Given the description of an element on the screen output the (x, y) to click on. 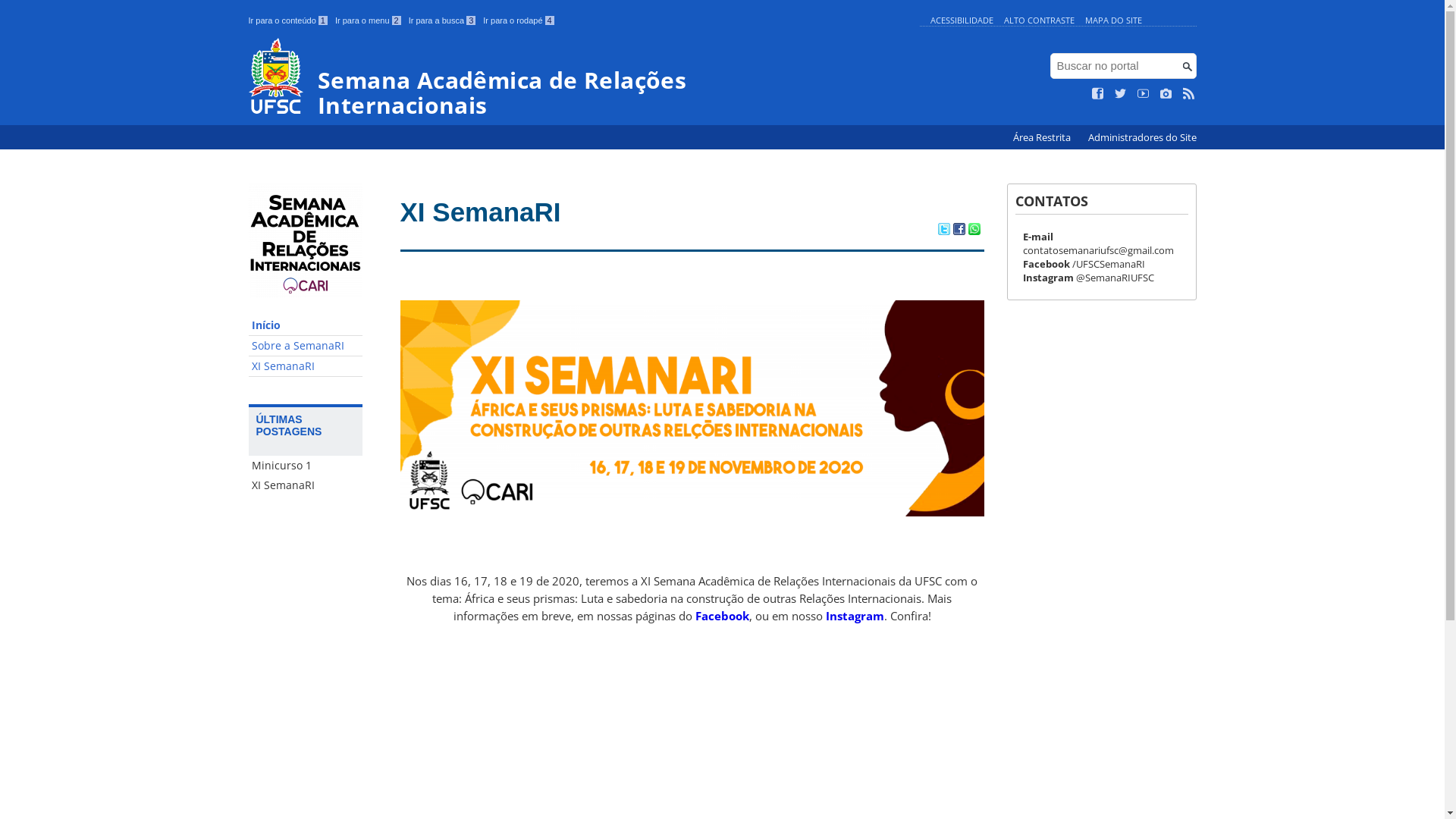
MAPA DO SITE Element type: text (1112, 19)
Compartilhar no WhatsApp Element type: hover (973, 230)
Ir para a busca 3 Element type: text (442, 20)
Compartilhar no Facebook Element type: hover (958, 230)
XI SemanaRI Element type: text (305, 366)
Compartilhar no Twitter Element type: hover (943, 230)
XI SemanaRI Element type: text (480, 211)
Minicurso 1 Element type: text (305, 465)
Facebook Element type: text (721, 615)
Sobre a SemanaRI Element type: text (305, 345)
XI SemanaRI Element type: text (305, 485)
ALTO CONTRASTE Element type: text (1039, 19)
ACESSIBILIDADE Element type: text (960, 19)
Veja no Instagram Element type: hover (1166, 93)
Administradores do Site Element type: text (1141, 137)
Instagram Element type: text (854, 615)
Ir para o menu 2 Element type: text (368, 20)
Curta no Facebook Element type: hover (1098, 93)
Siga no Twitter Element type: hover (1120, 93)
